Given the description of an element on the screen output the (x, y) to click on. 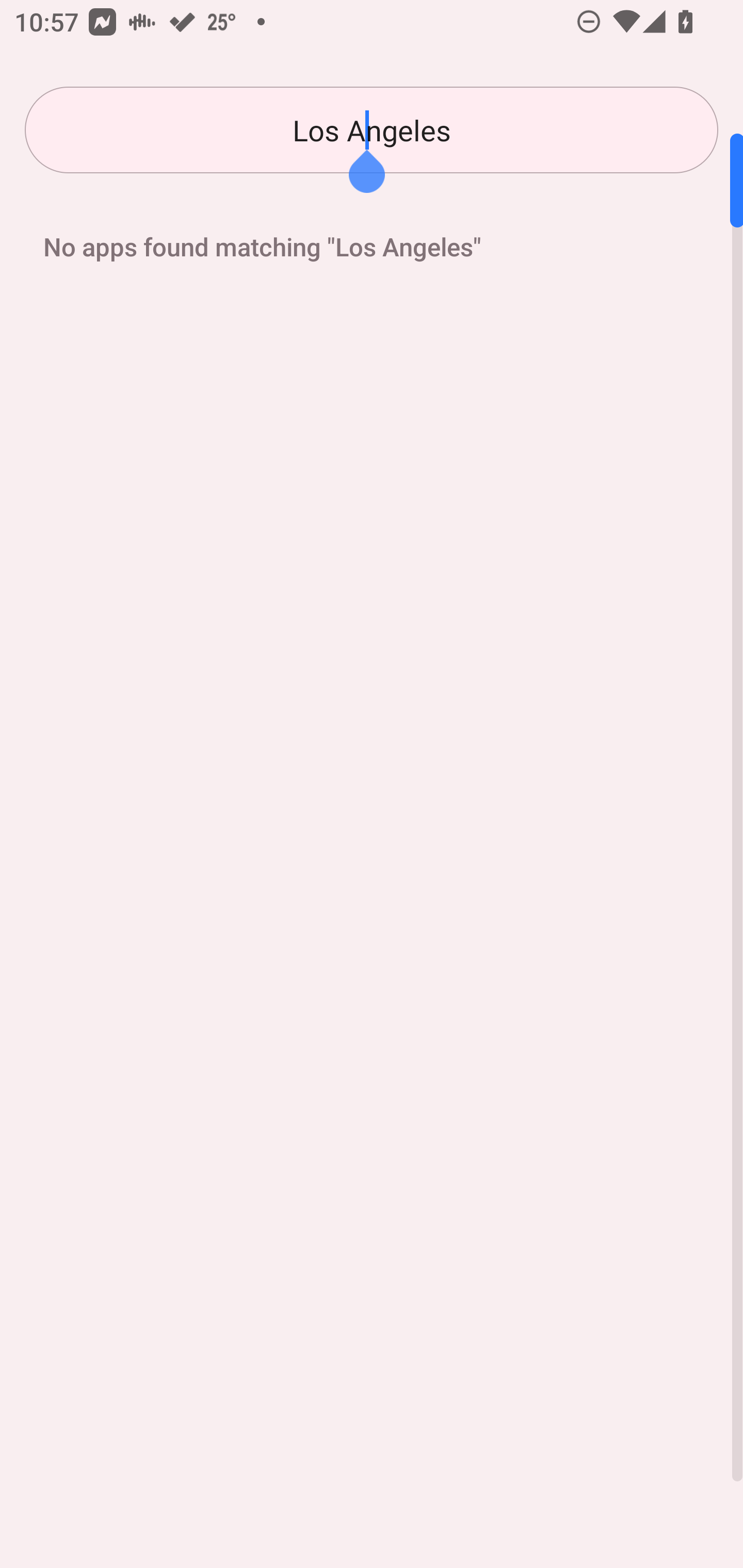
Los Angeles (371, 130)
